Given the description of an element on the screen output the (x, y) to click on. 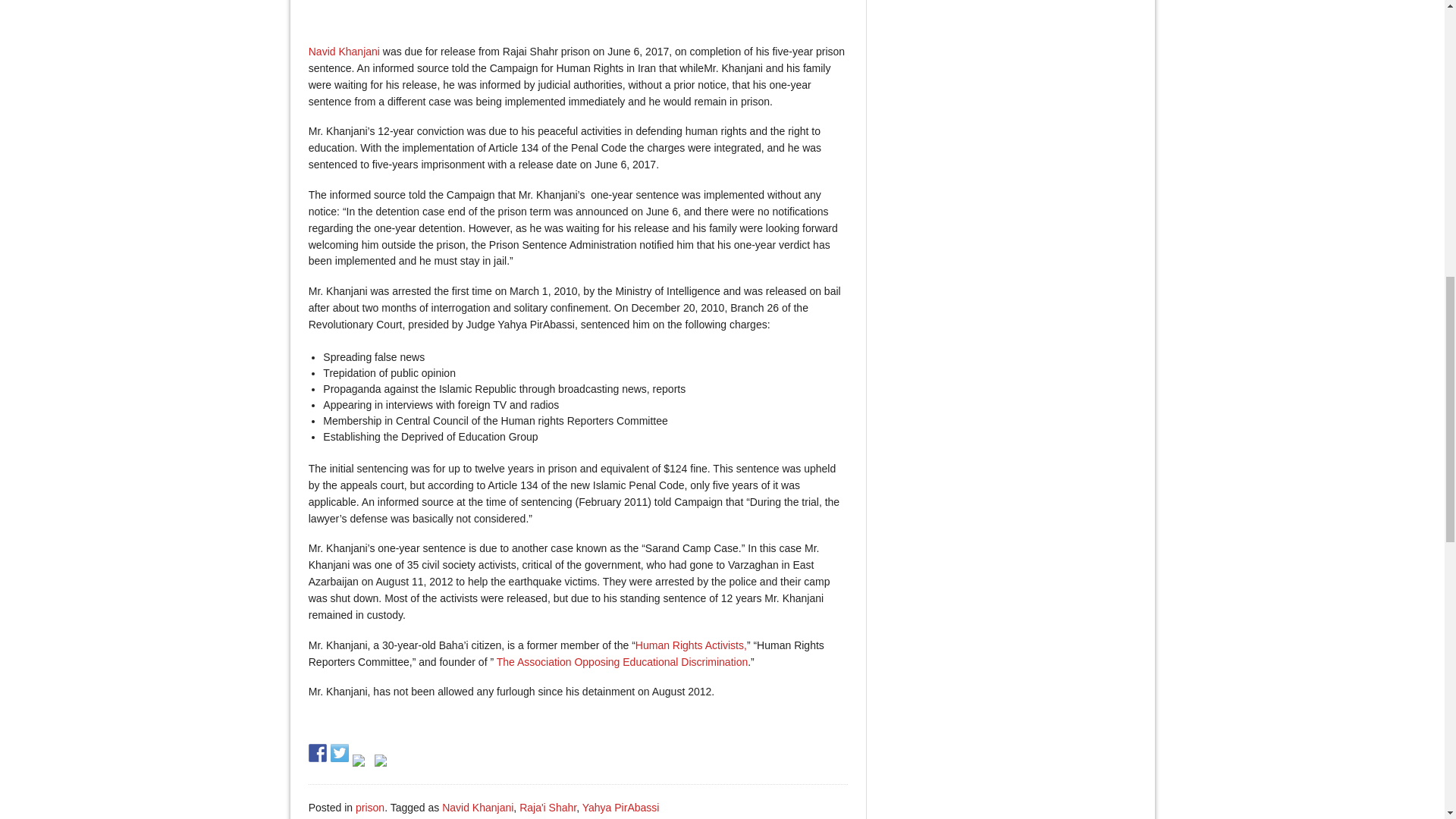
Yahya PirAbassi (620, 807)
Raja'i Shahr (547, 807)
The Association Opposing Educational Discrimination (622, 662)
Human Rights Activists, (690, 645)
Share on Twitter (339, 752)
Share on Facebook (317, 752)
Share on Linkedin (383, 763)
Navid Khanjani (477, 807)
Navid Khanjani (344, 51)
Pin it with Pinterest (361, 763)
prison (369, 807)
